Given the description of an element on the screen output the (x, y) to click on. 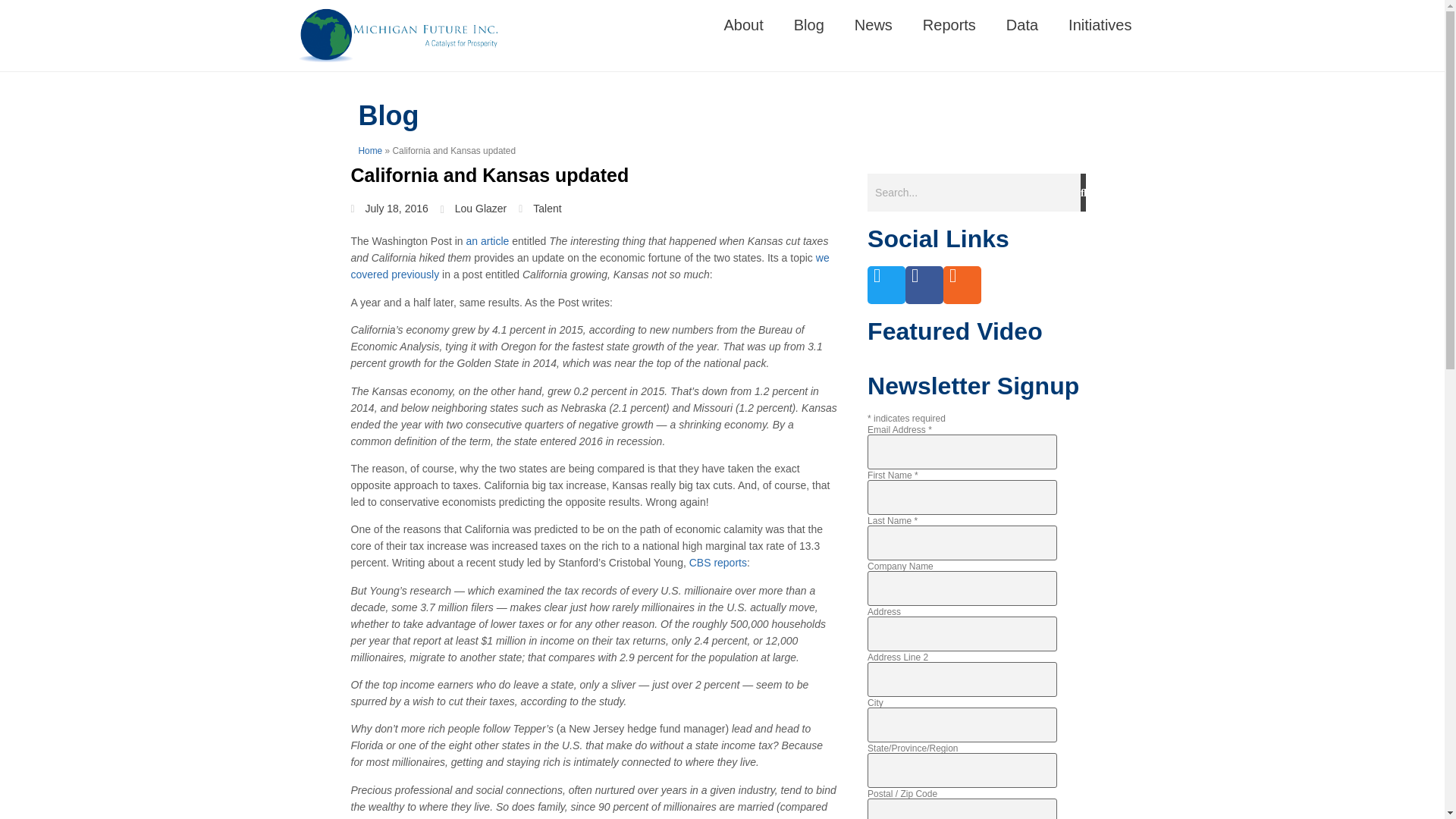
About (743, 24)
Data (1021, 24)
we covered previously (589, 265)
Lou Glazer (473, 208)
Home (369, 150)
an article (487, 241)
Reports (949, 24)
July 18, 2016 (389, 208)
Talent (546, 208)
Initiatives (1099, 24)
